Given the description of an element on the screen output the (x, y) to click on. 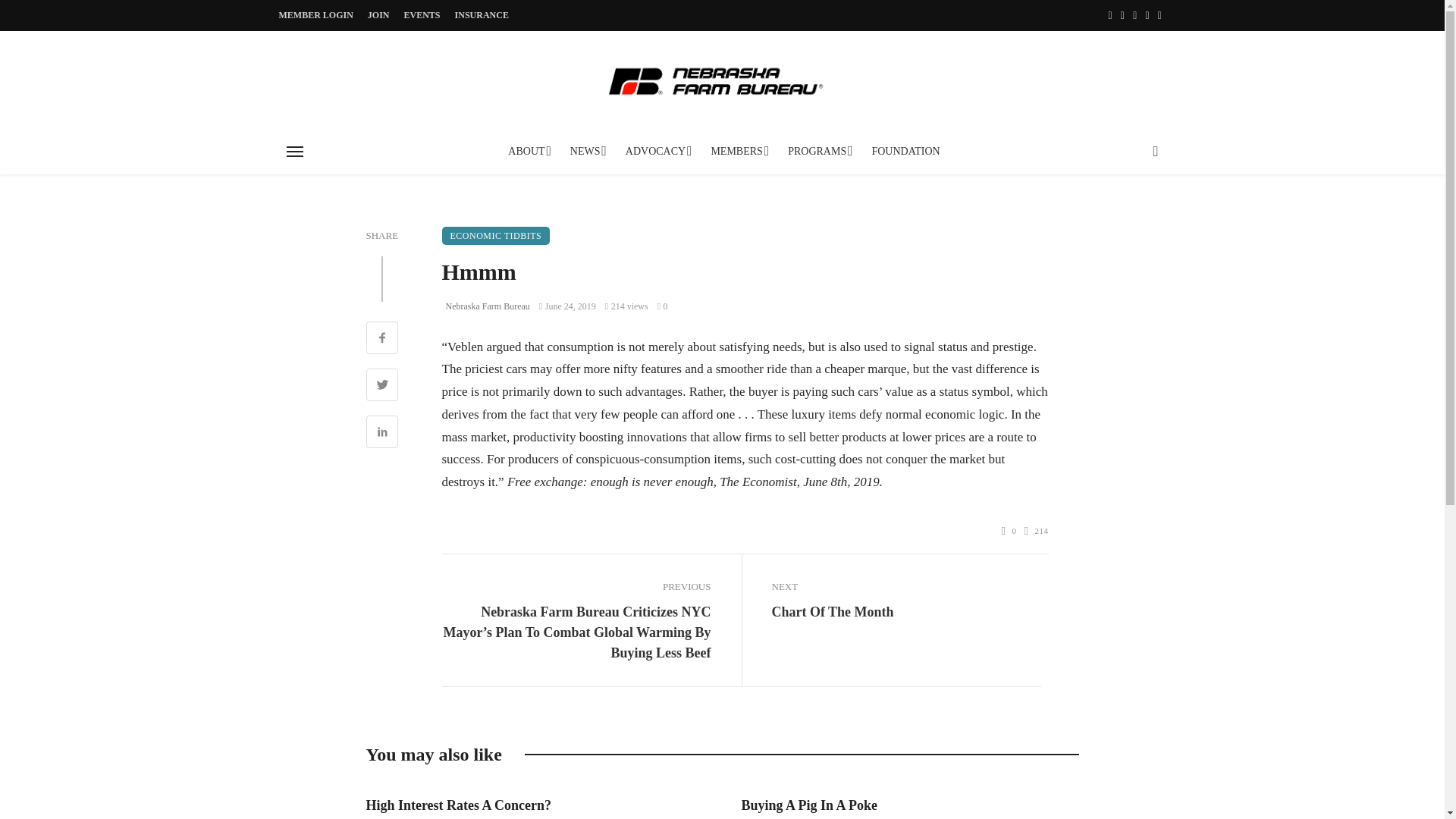
INSURANCE (481, 14)
Share on Twitter (381, 386)
NEWS (586, 151)
Share on Facebook (381, 339)
June 24, 2019 at 3:00 am (566, 306)
Share on Linkedin (381, 433)
EVENTS (421, 14)
0 Comments (663, 306)
ABOUT (527, 151)
MEMBER LOGIN (316, 14)
ADVOCACY (657, 151)
JOIN (378, 14)
